Given the description of an element on the screen output the (x, y) to click on. 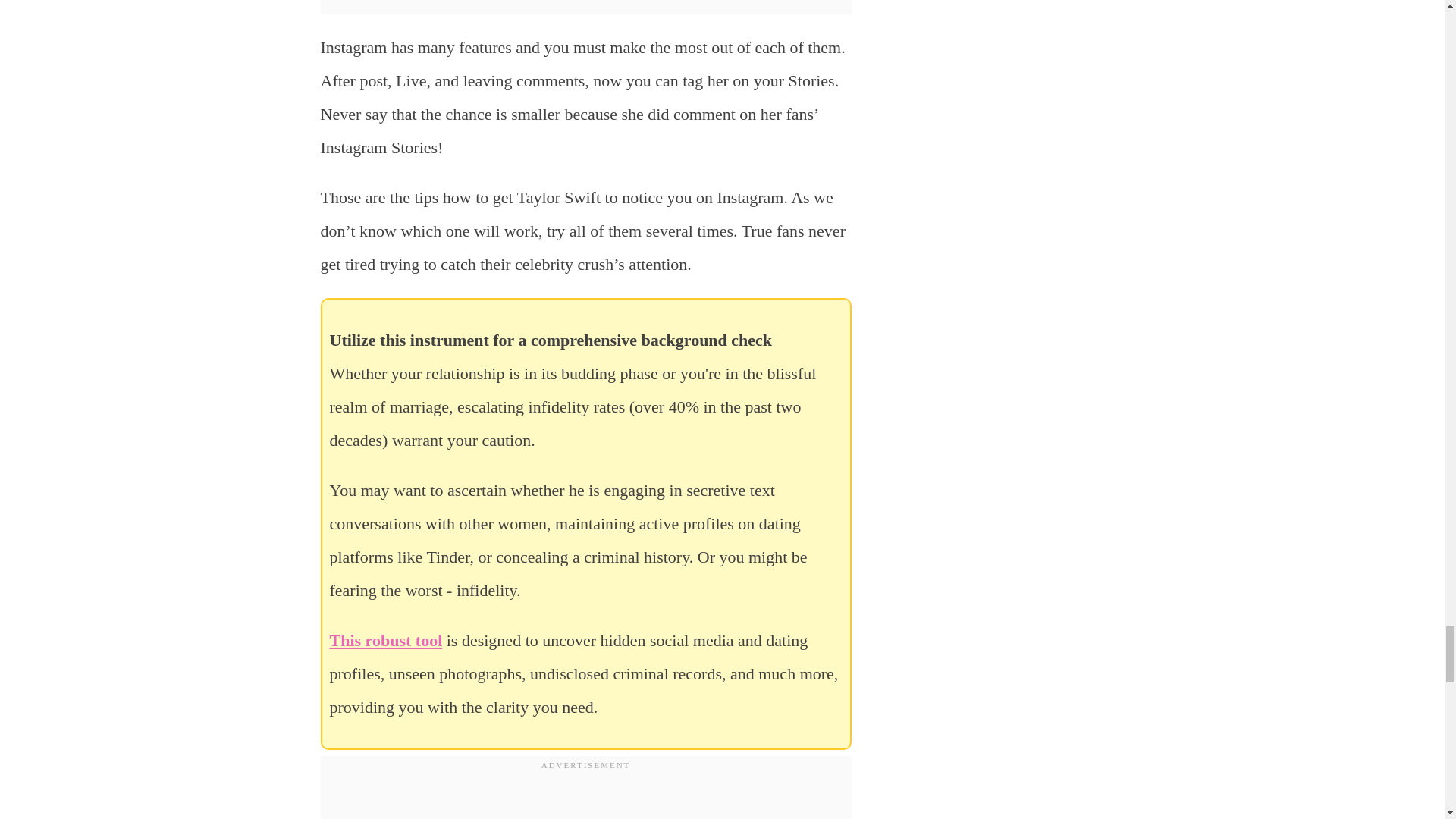
This robust tool (385, 640)
